Given the description of an element on the screen output the (x, y) to click on. 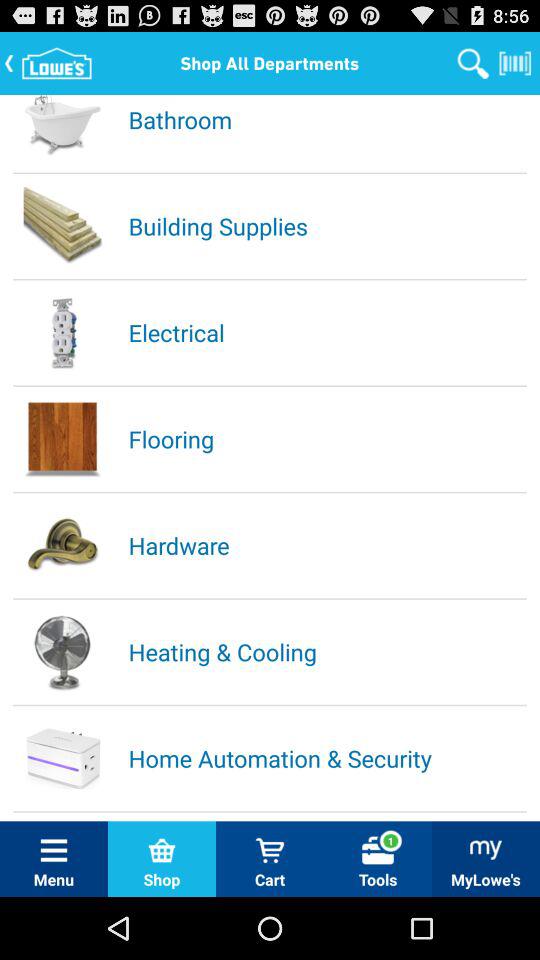
turn off heating & cooling icon (326, 651)
